Given the description of an element on the screen output the (x, y) to click on. 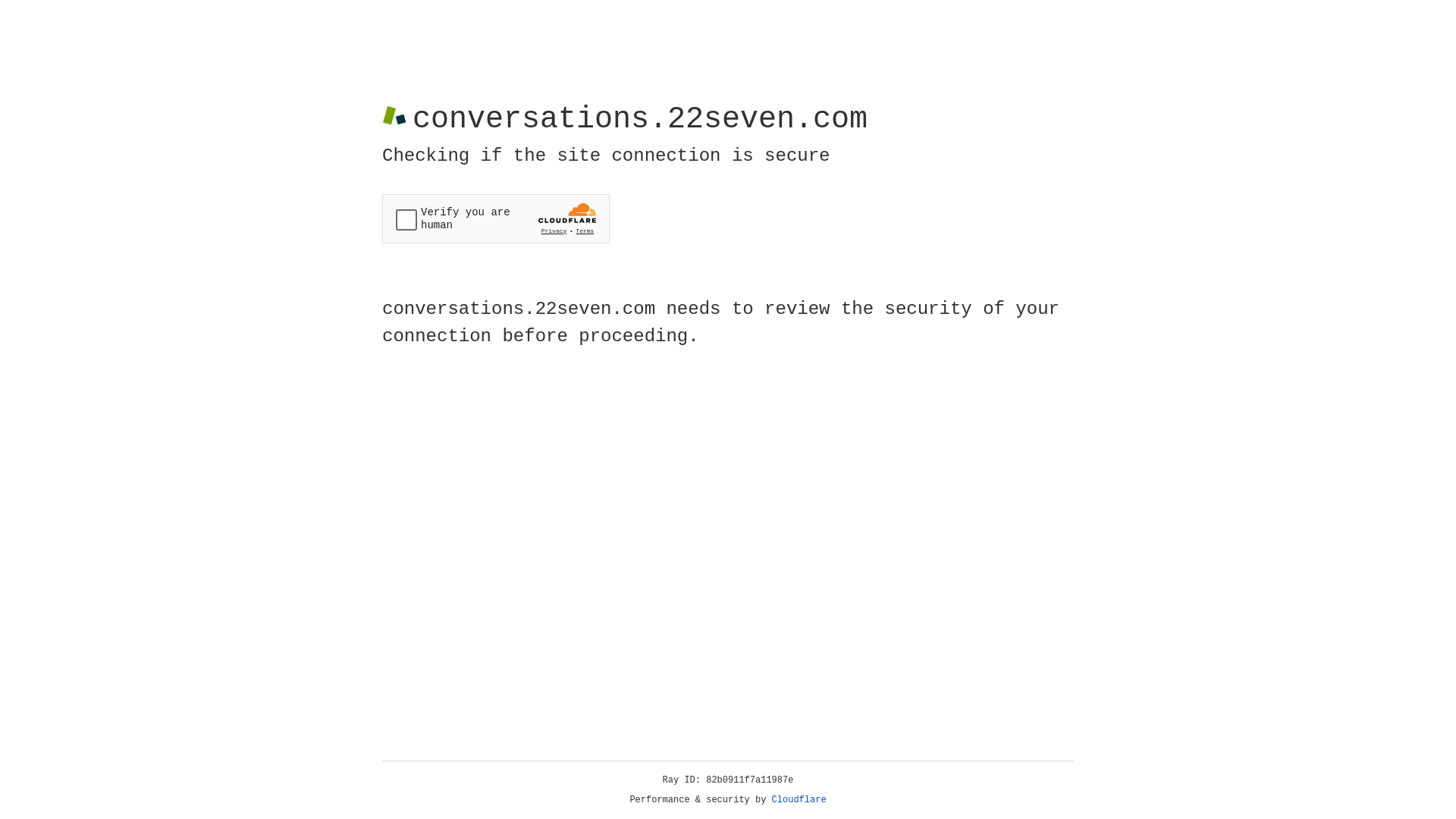
Cloudflare Element type: text (798, 799)
Widget containing a Cloudflare security challenge Element type: hover (495, 218)
